Given the description of an element on the screen output the (x, y) to click on. 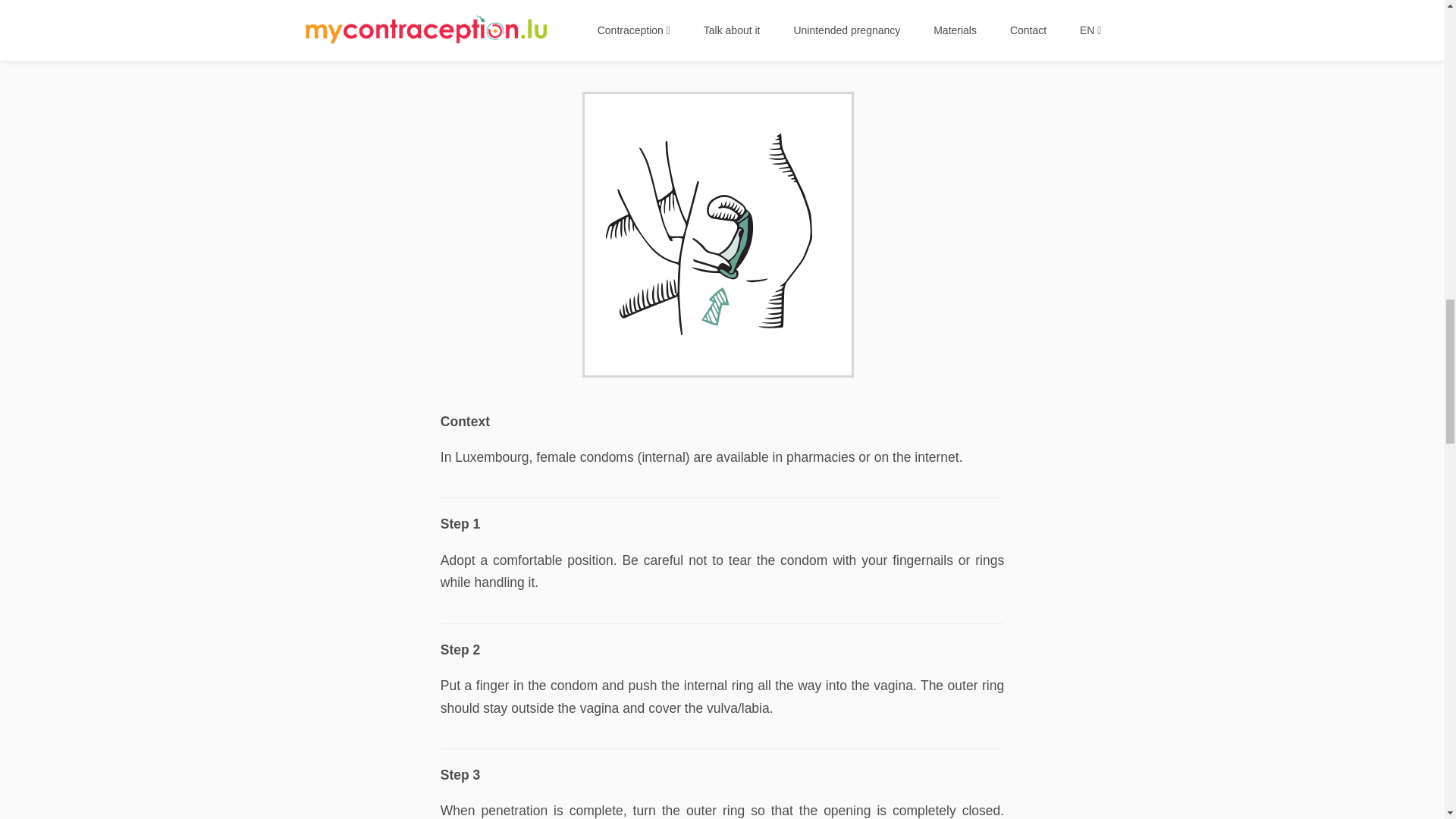
vrouwcondoom (722, 235)
